Given the description of an element on the screen output the (x, y) to click on. 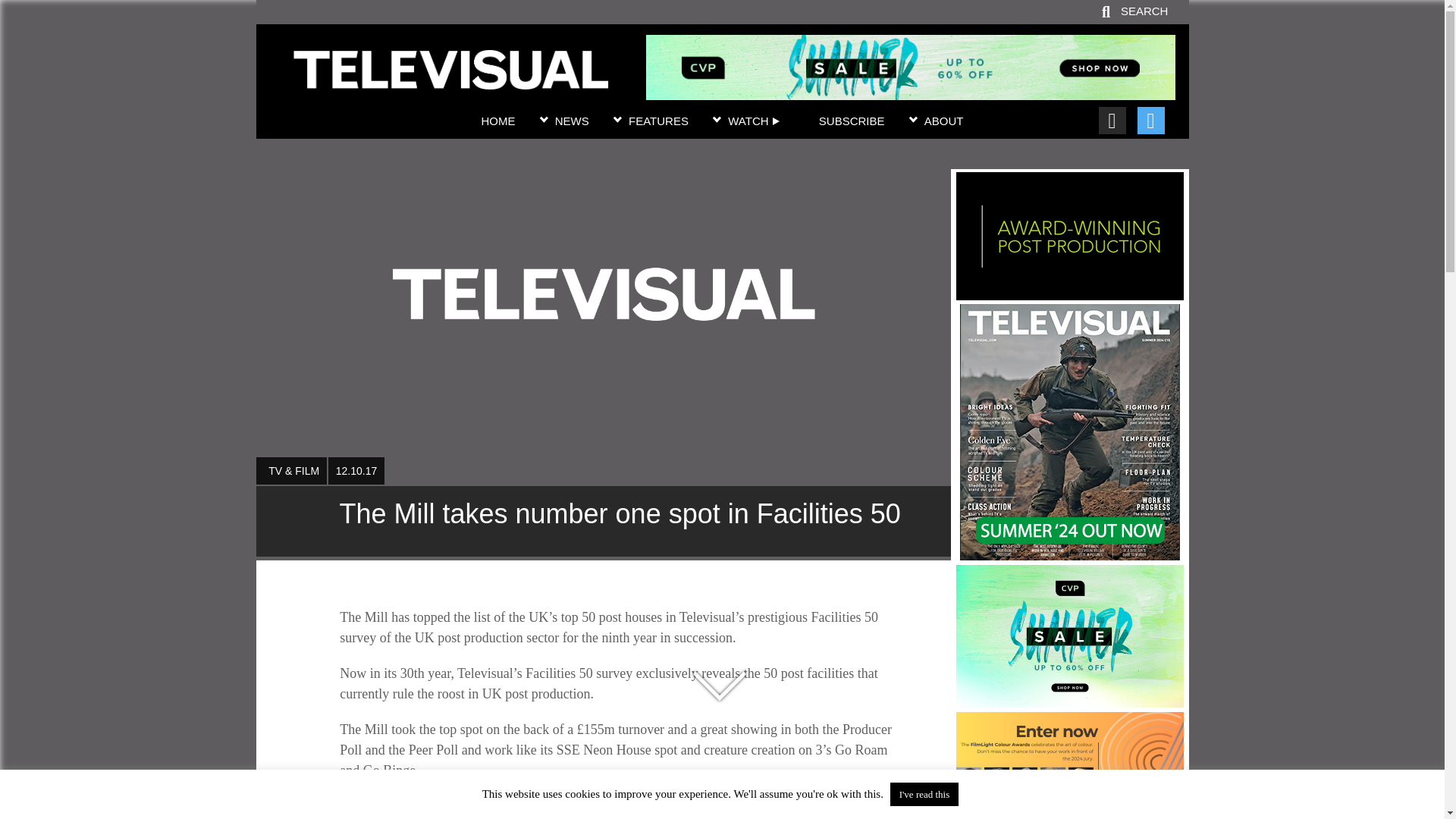
The Mill takes number one spot in Facilities 50 (451, 80)
ABOUT (943, 121)
WATCH (753, 121)
NEWS (571, 121)
SUBSCRIBE (851, 121)
The Mill takes number one spot in Facilities 50 (603, 520)
FEATURES (658, 121)
HOME (497, 121)
12.10.17 (356, 470)
